Given the description of an element on the screen output the (x, y) to click on. 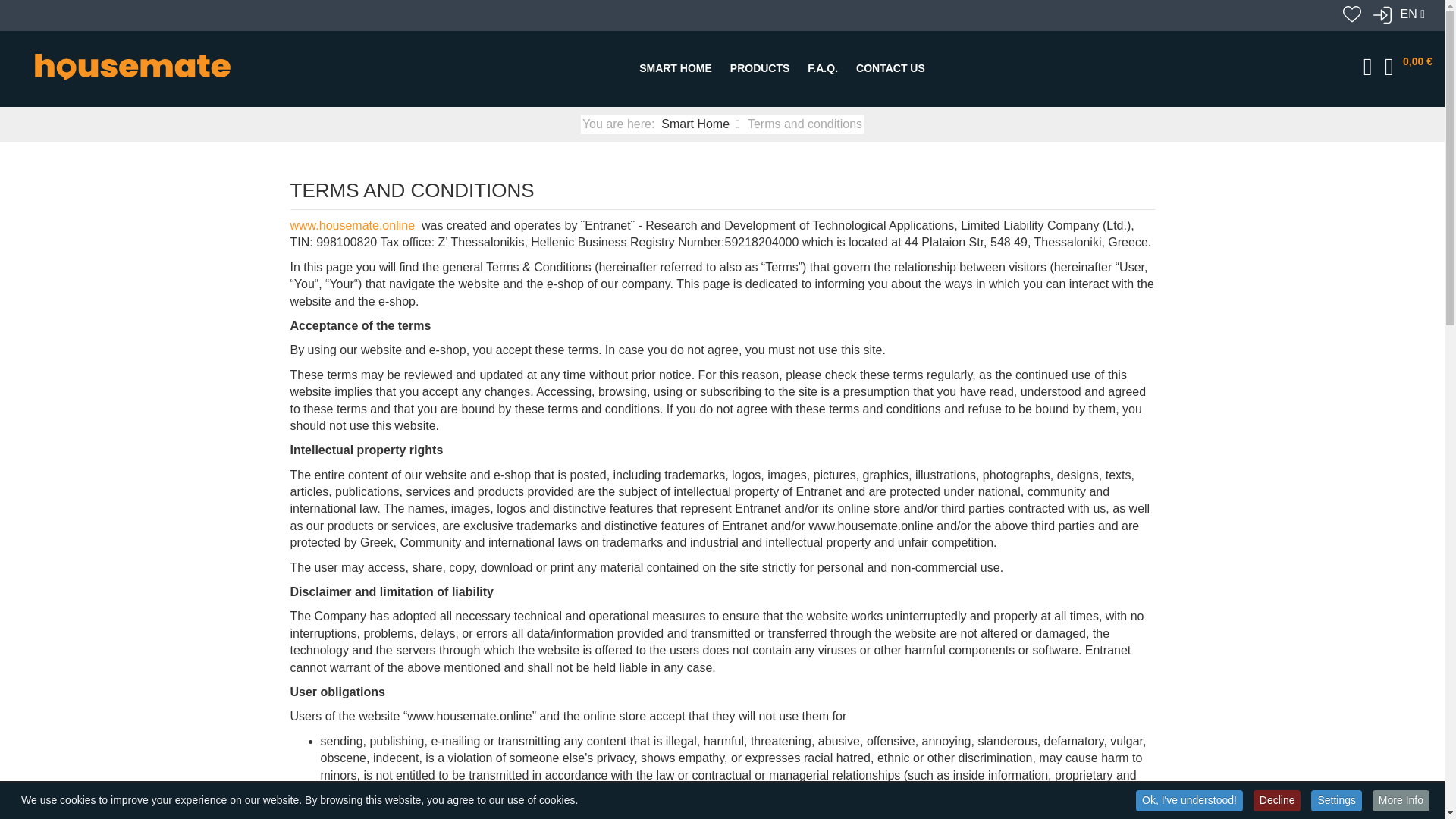
SMART HOME (675, 67)
Login (1379, 14)
Smart Home (695, 123)
www.housemate.online (351, 225)
PRODUCTS (759, 67)
Wishlist (1354, 14)
CONTACT US (890, 67)
